Given the description of an element on the screen output the (x, y) to click on. 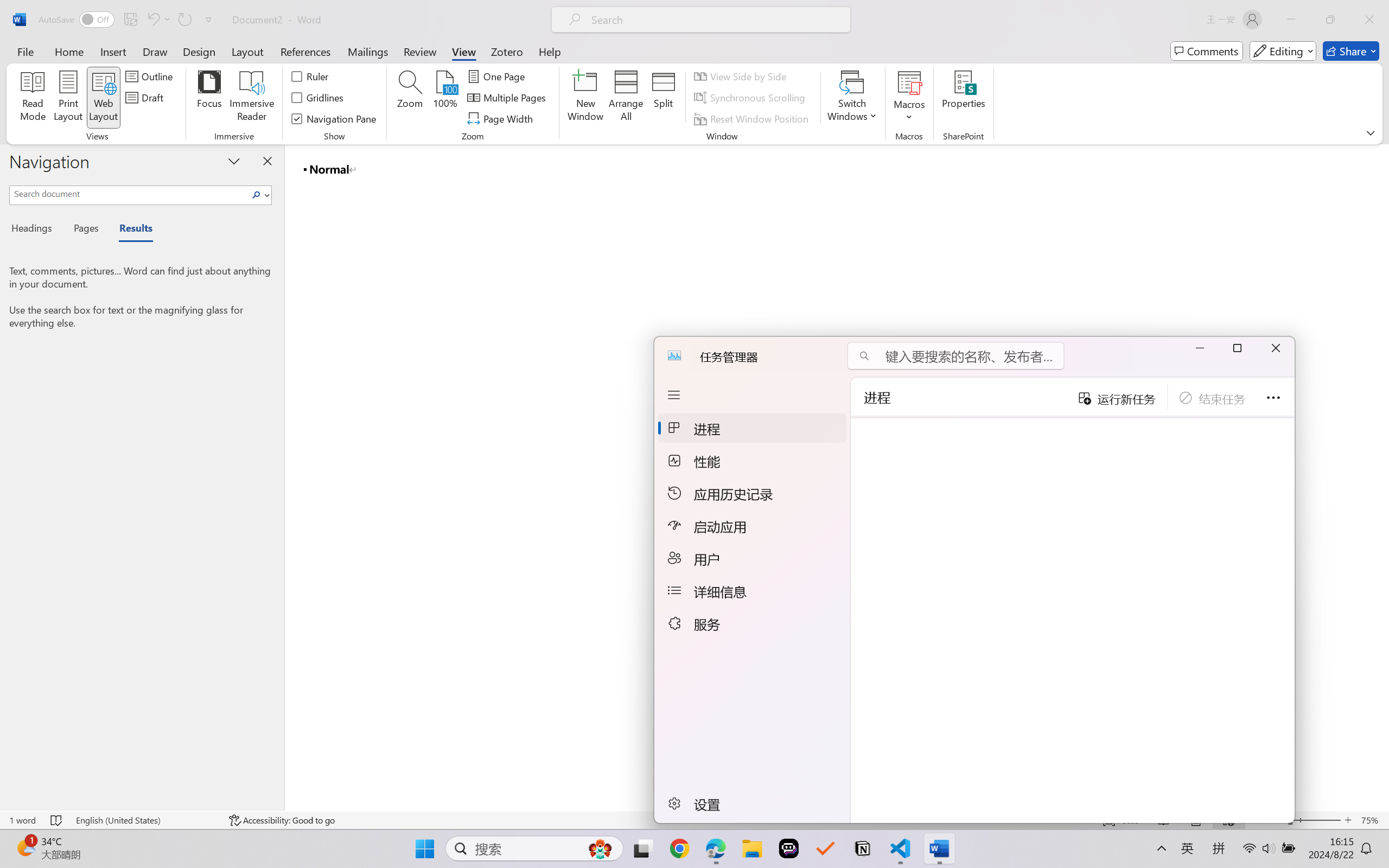
AutomationID: BadgeAnchorLargeTicker (24, 847)
Repeat Doc Close (184, 19)
Arrange All (625, 97)
Zotero (506, 51)
Mode (1283, 50)
Ruler (309, 75)
